Given the description of an element on the screen output the (x, y) to click on. 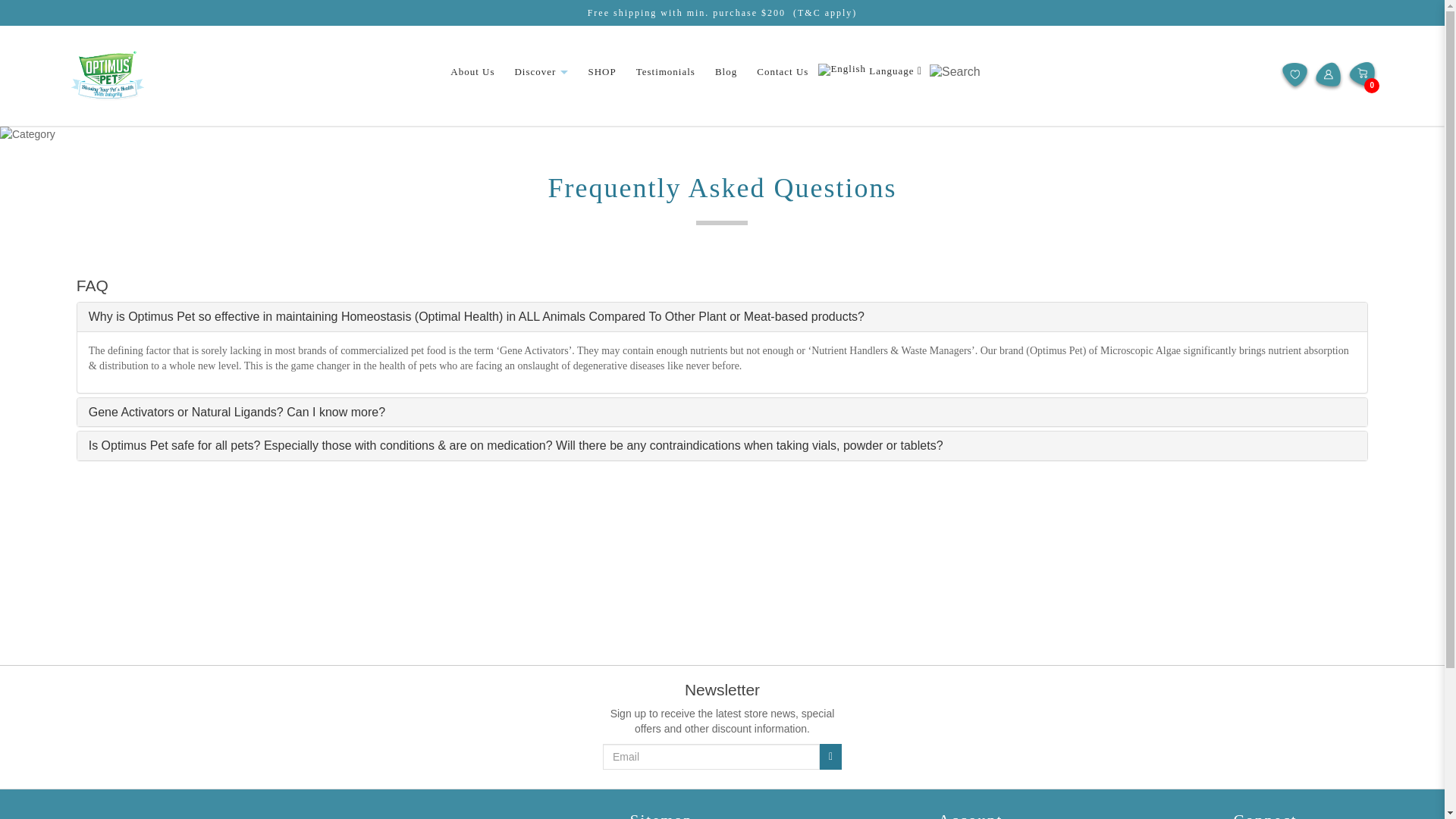
Blog (725, 71)
SHOP (601, 71)
About Us (472, 71)
Contact Us (782, 71)
Language (869, 71)
0 (1361, 75)
Testimonials (665, 71)
English (842, 69)
Discover (540, 71)
